Given the description of an element on the screen output the (x, y) to click on. 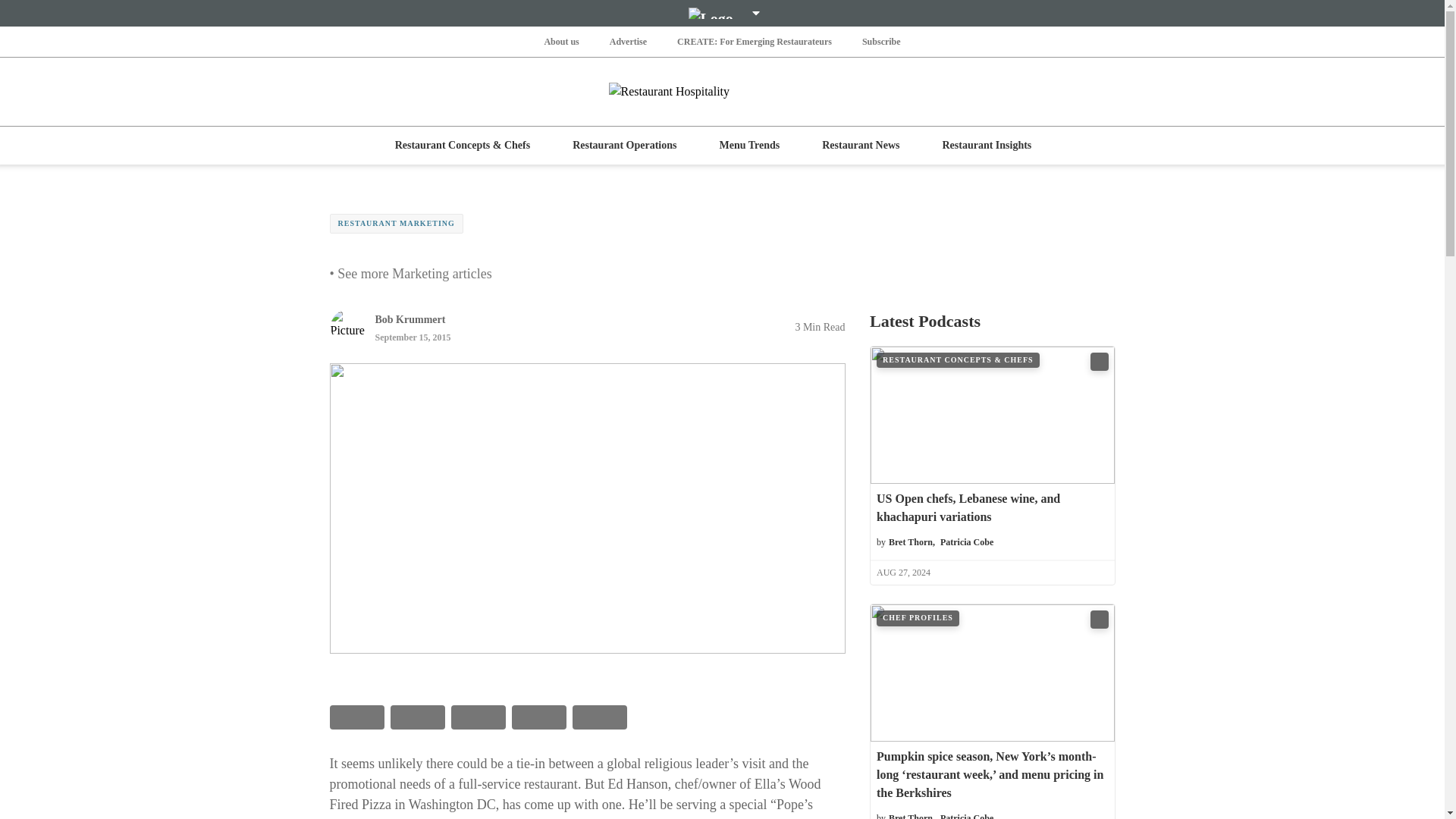
Advertise (628, 41)
Picture of Bob Krummert (347, 326)
CREATE: For Emerging Restaurateurs (754, 41)
Subscribe (881, 41)
Restaurant Hospitality (721, 91)
About us (560, 41)
